Given the description of an element on the screen output the (x, y) to click on. 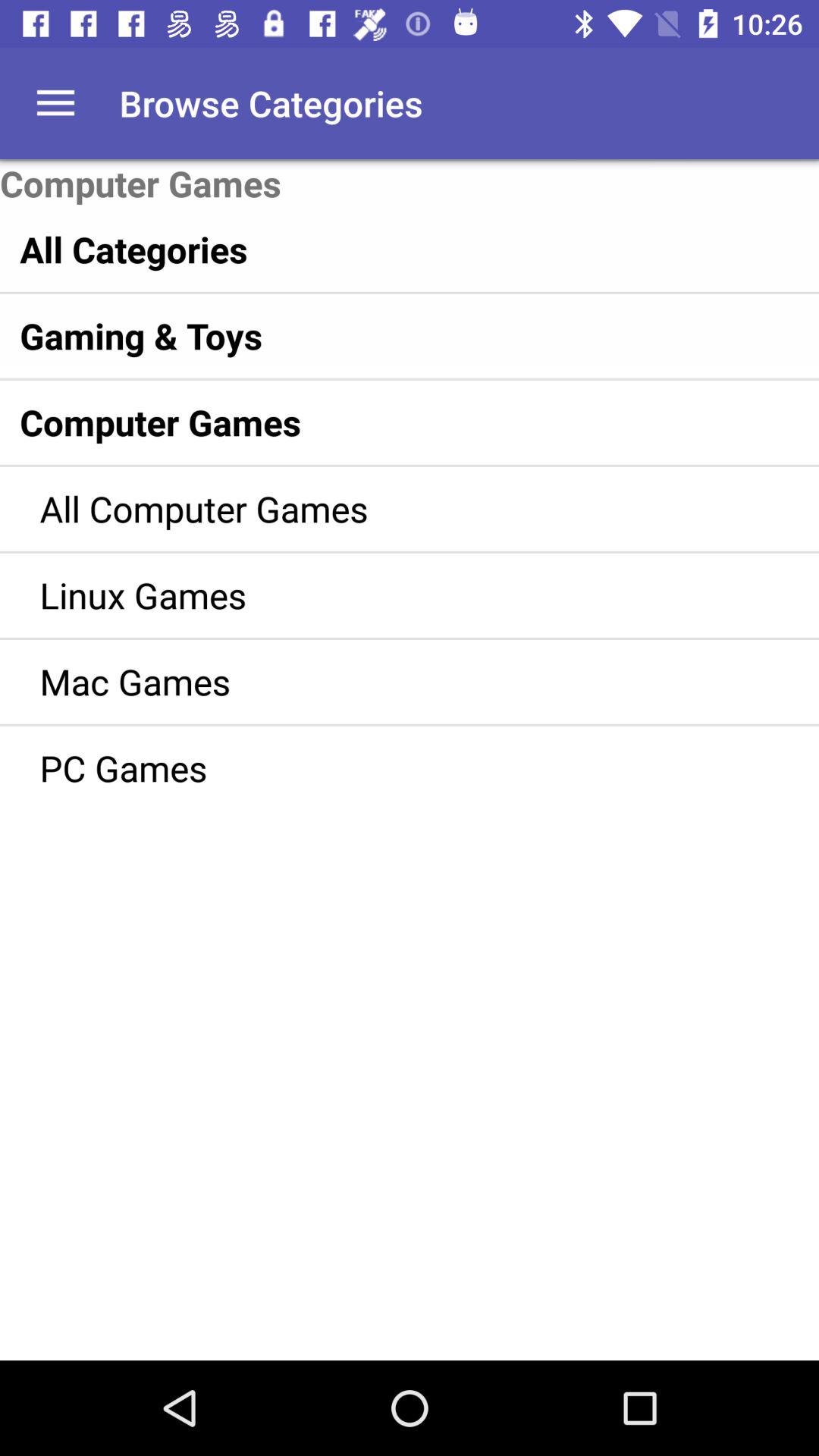
tap item above gaming & toys (377, 249)
